Given the description of an element on the screen output the (x, y) to click on. 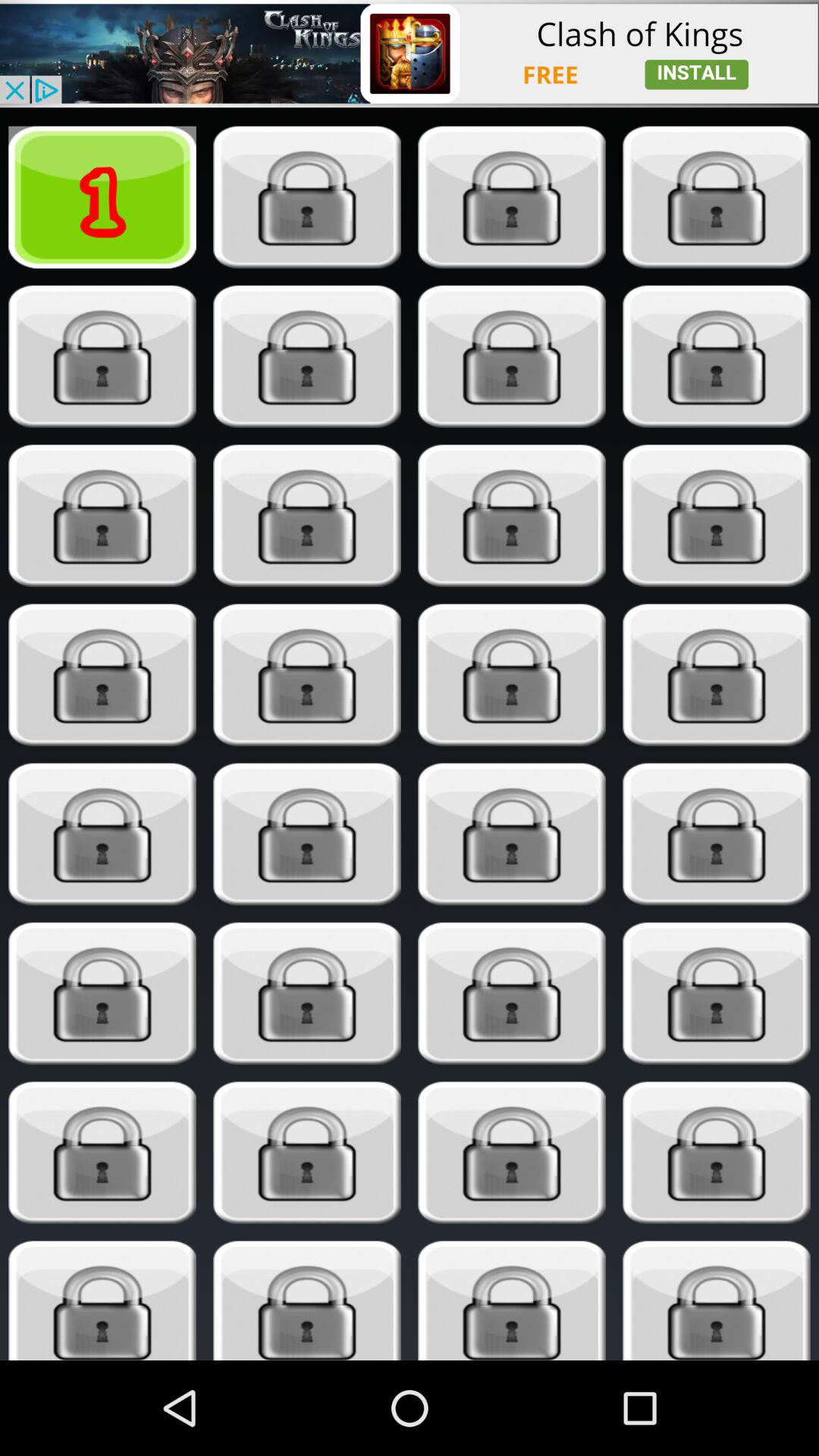
look here (102, 1300)
